Given the description of an element on the screen output the (x, y) to click on. 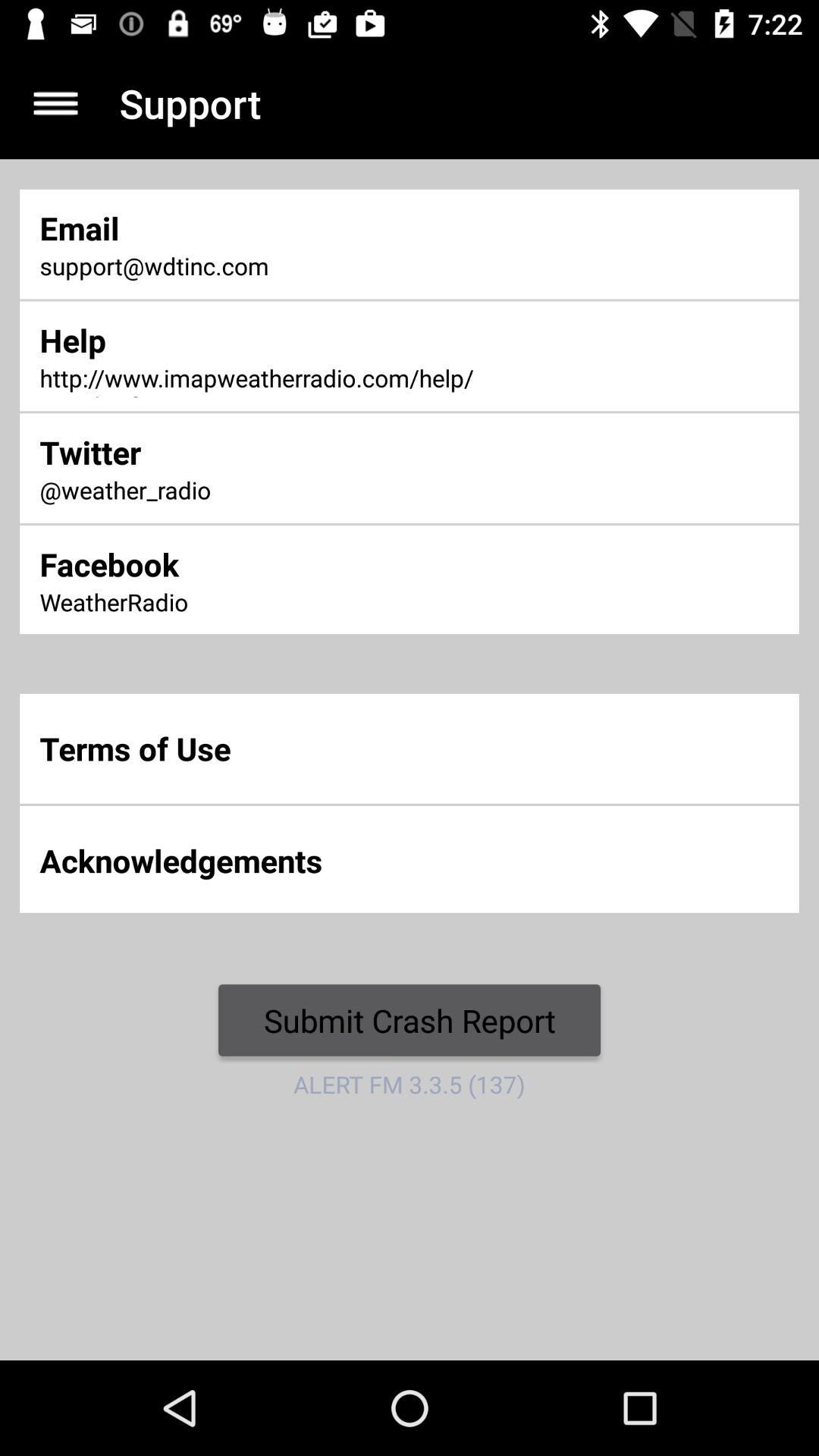
open item above the terms of use item (270, 603)
